Given the description of an element on the screen output the (x, y) to click on. 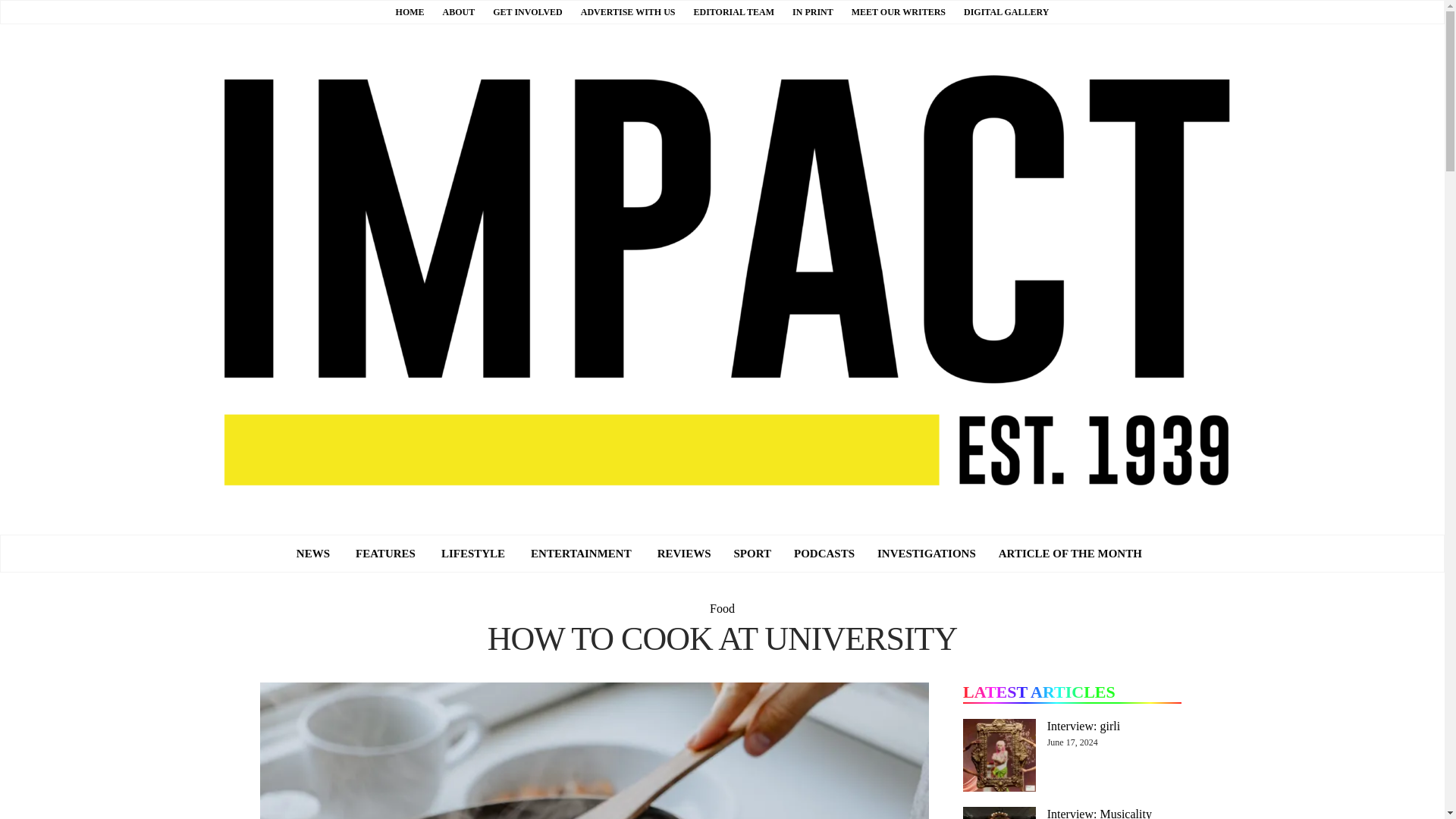
News (312, 553)
GET INVOLVED (527, 11)
MEET OUR WRITERS (897, 11)
DIGITAL GALLERY (1005, 11)
ADVERTISE WITH US (627, 11)
ABOUT (459, 11)
NEWS (312, 553)
HOME (410, 11)
EDITORIAL TEAM (733, 11)
IN PRINT (812, 11)
